Given the description of an element on the screen output the (x, y) to click on. 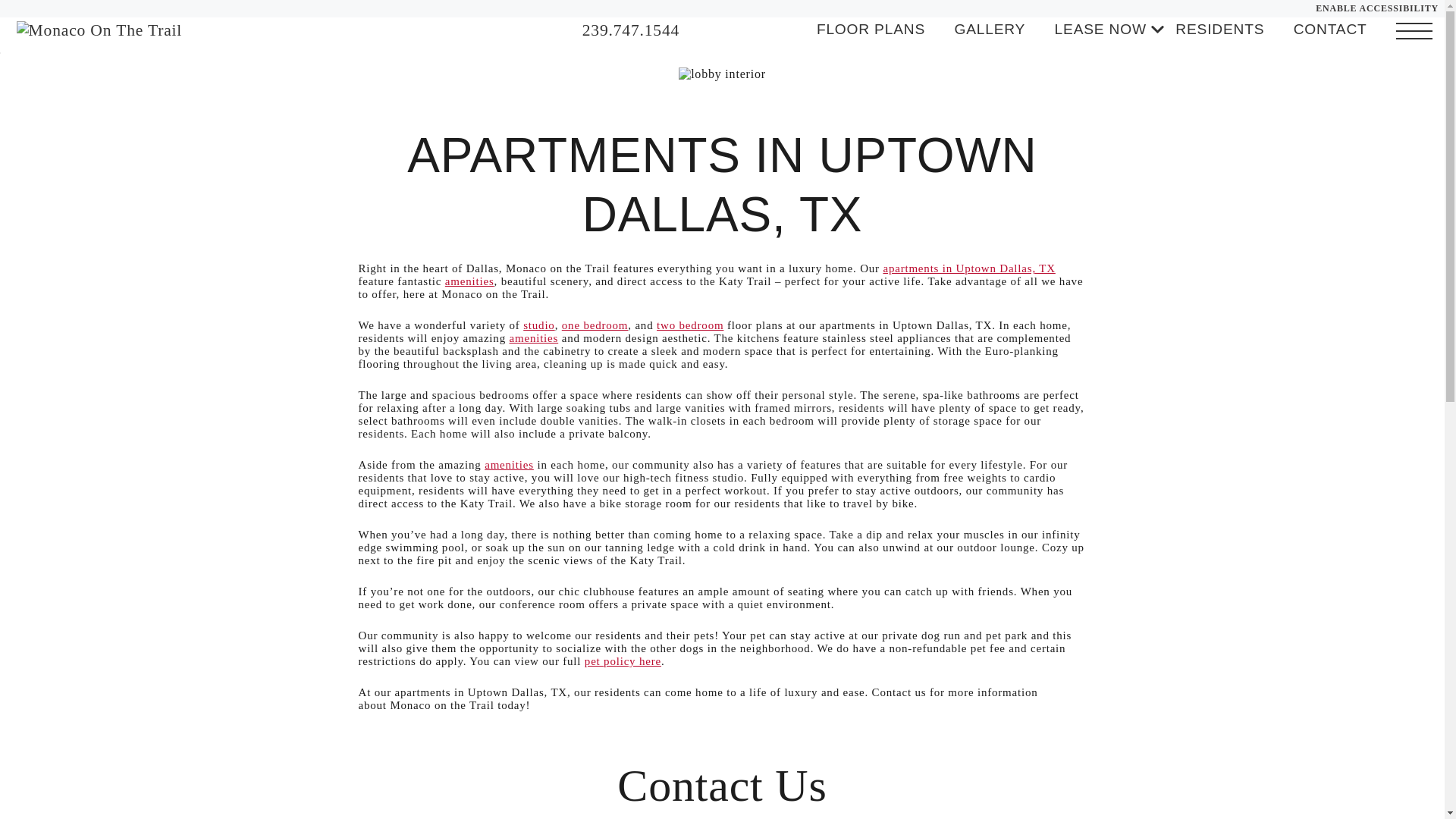
lobby interior (721, 74)
Skip to Footer (49, 53)
RESIDENTS (1218, 29)
Book a Tour (747, 31)
239.747.1544 (630, 30)
FLOOR PLANS (870, 29)
Directions (777, 31)
Chat (717, 31)
ENABLE ACCESSIBILITY (1377, 8)
LEASE NOW (1100, 29)
GALLERY (989, 29)
CONTACT (1330, 29)
Skip to Main Content (49, 52)
